Given the description of an element on the screen output the (x, y) to click on. 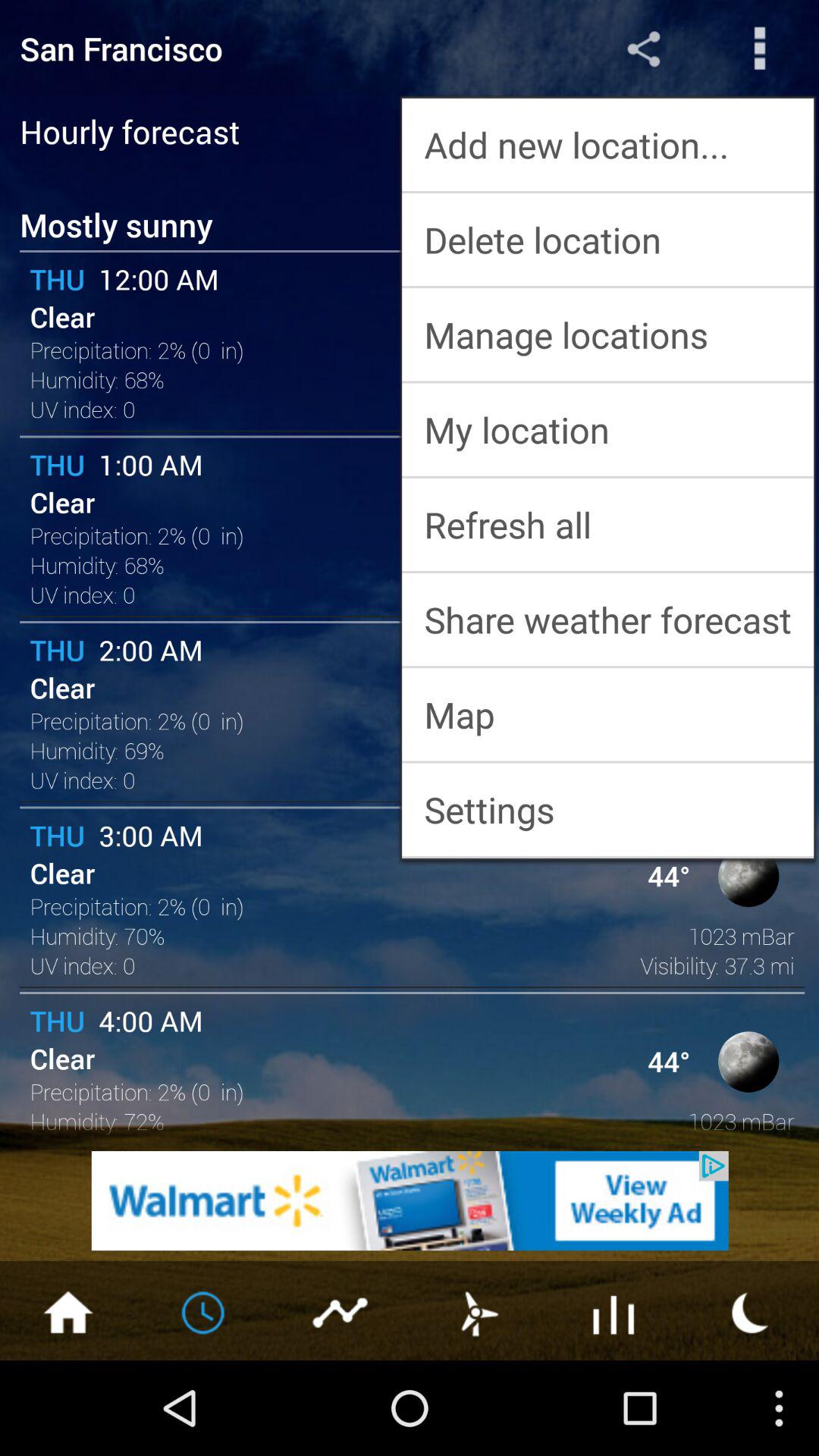
open the refresh all app (607, 524)
